Given the description of an element on the screen output the (x, y) to click on. 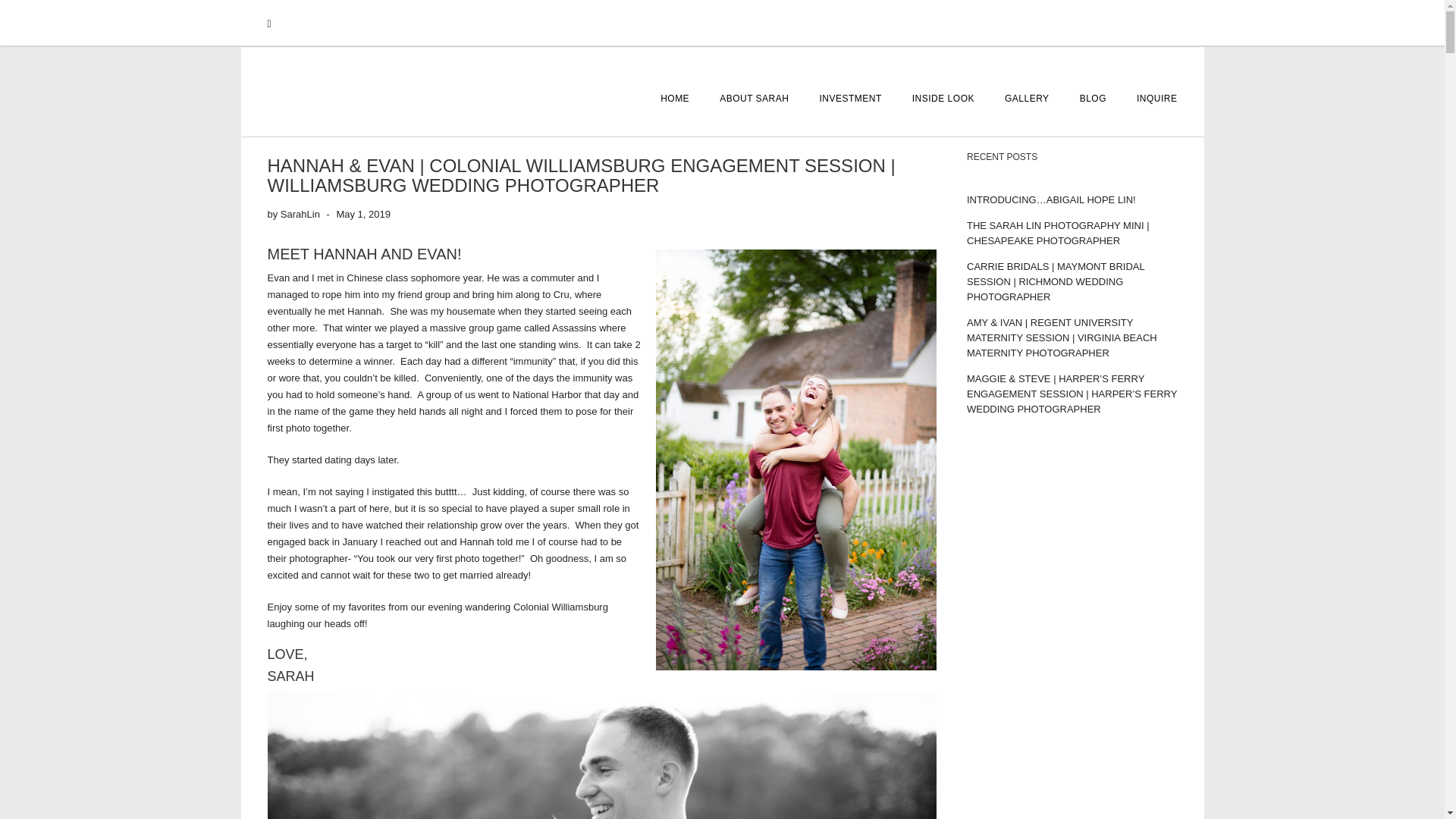
INSIDE LOOK (943, 98)
BLOG (1092, 98)
INVESTMENT (849, 98)
ABOUT SARAH (753, 98)
INQUIRE (1149, 98)
GALLERY (1027, 98)
HOME (674, 98)
